Given the description of an element on the screen output the (x, y) to click on. 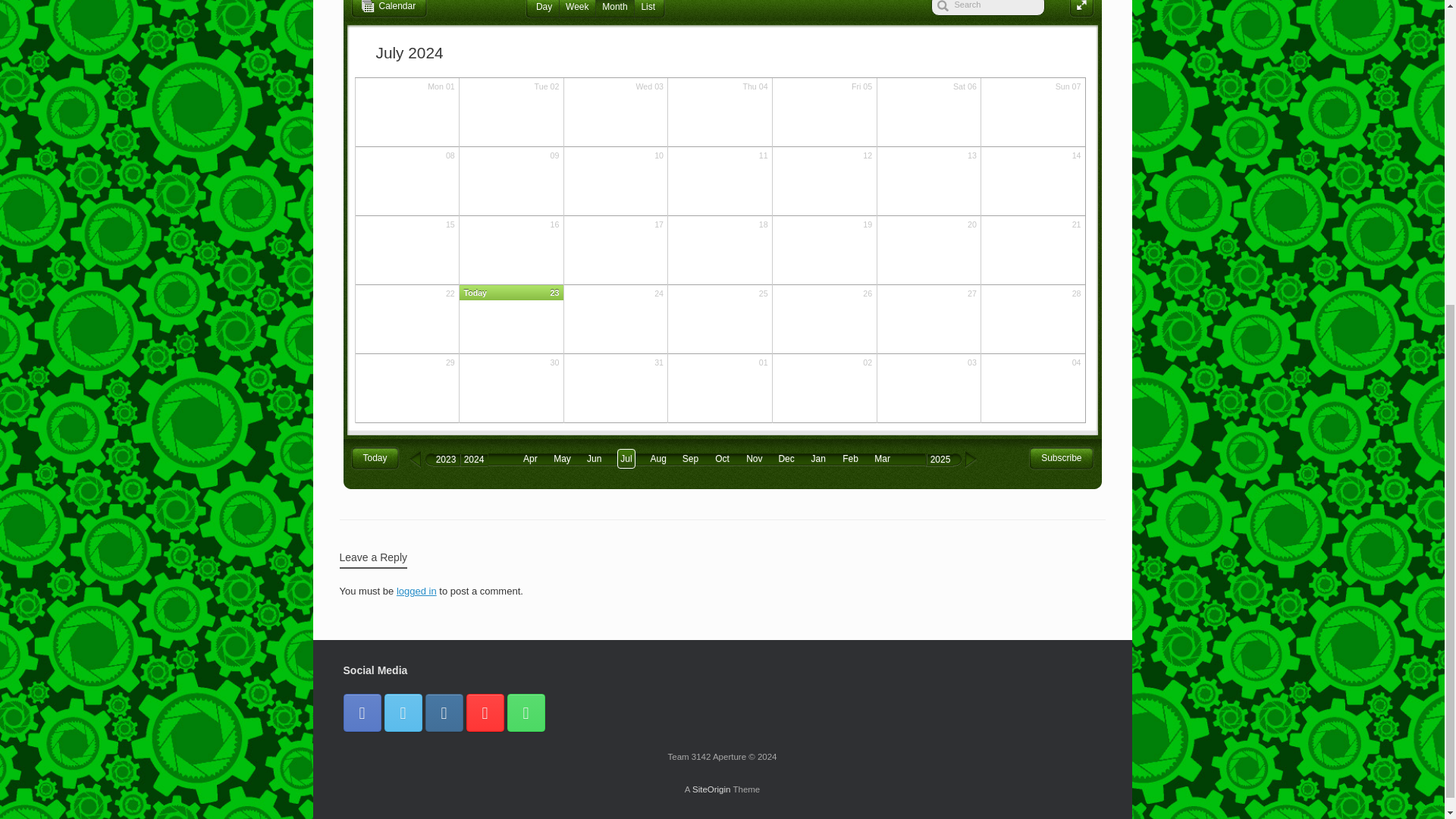
Month (614, 9)
2024 (474, 459)
Day (543, 9)
Jan (817, 458)
Team 3142 Aperture Instagram (444, 712)
Team 3142 Aperture YouTube (484, 712)
May (561, 458)
Oct (721, 458)
Aug (657, 458)
Team 3142 Aperture Facebook (361, 712)
Nov (753, 458)
List (647, 9)
Calendar (389, 9)
Week (577, 9)
Search (988, 7)
